Given the description of an element on the screen output the (x, y) to click on. 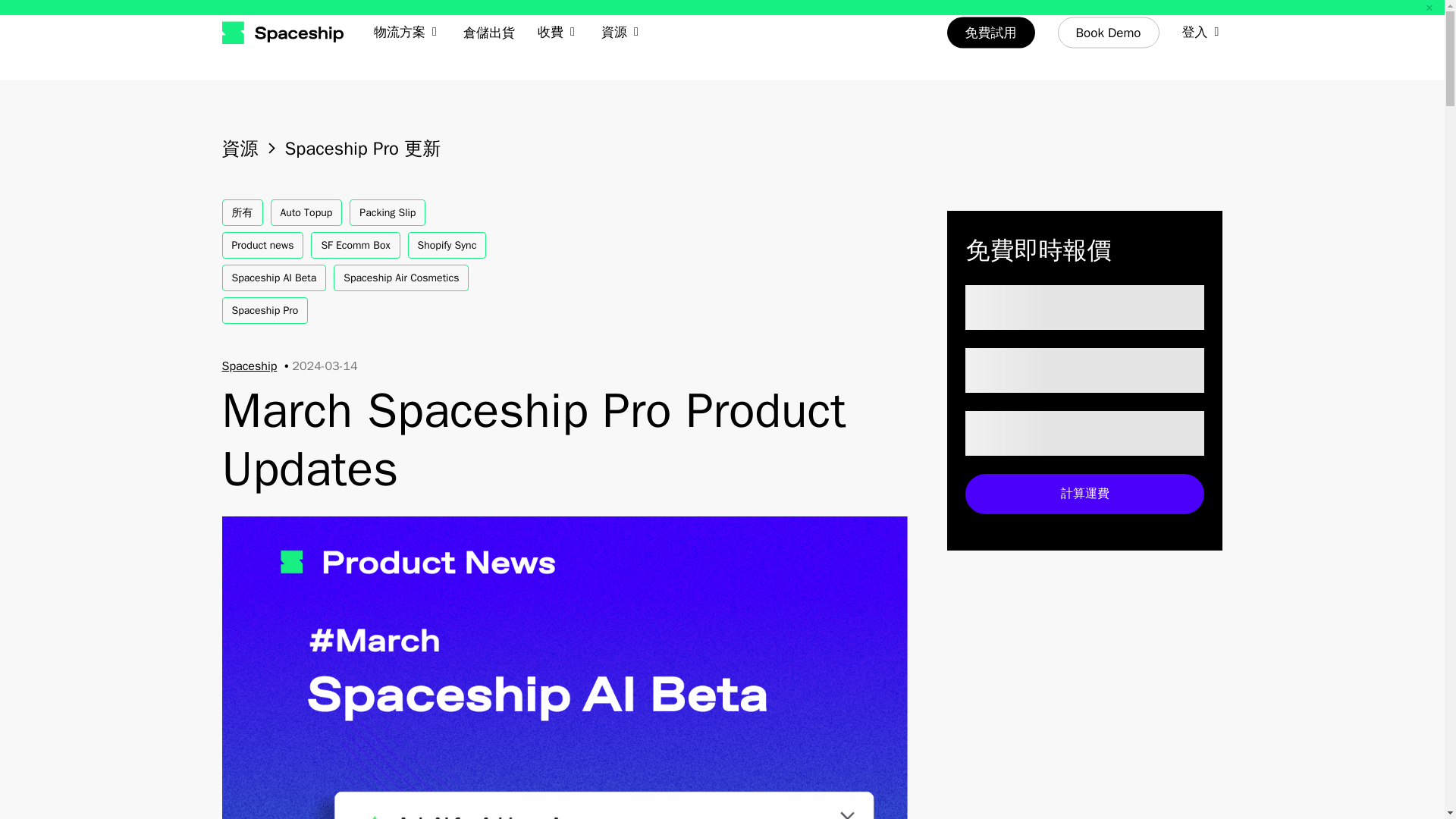
 Shopify Sync (446, 244)
 Auto Topup (305, 212)
Book Demo (1108, 31)
All (241, 212)
 Packing Slip (387, 212)
 SF Ecomm Box (354, 244)
 Spaceship Air Cosmetics (400, 277)
 Spaceship AI Beta (273, 277)
 Spaceship Pro (264, 310)
 Product news (261, 244)
